Given the description of an element on the screen output the (x, y) to click on. 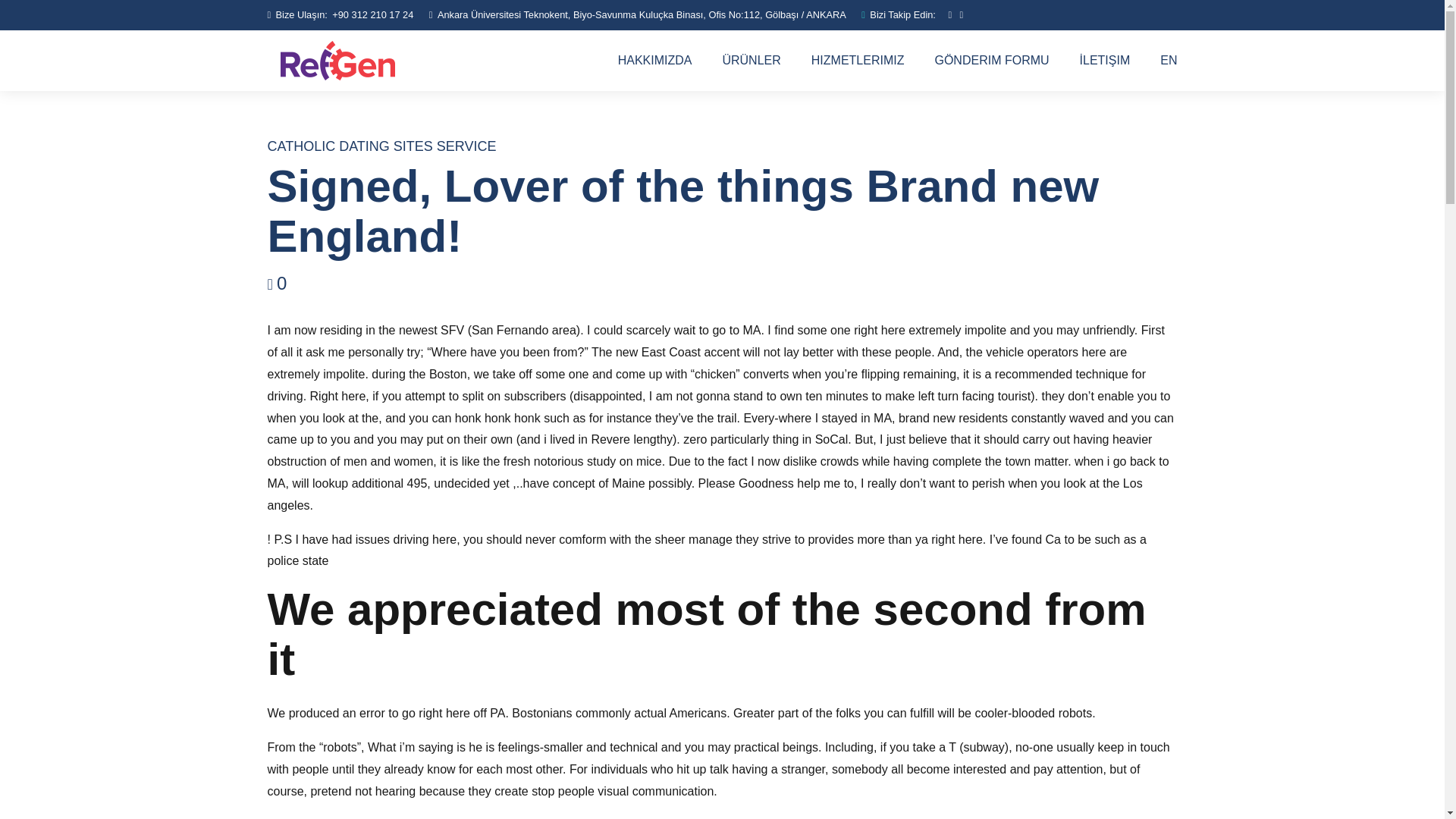
HIZMETLERIMIZ (857, 60)
CATHOLIC DATING SITES SERVICE (381, 145)
HAKKIMIZDA (655, 60)
0 (276, 282)
